Given the description of an element on the screen output the (x, y) to click on. 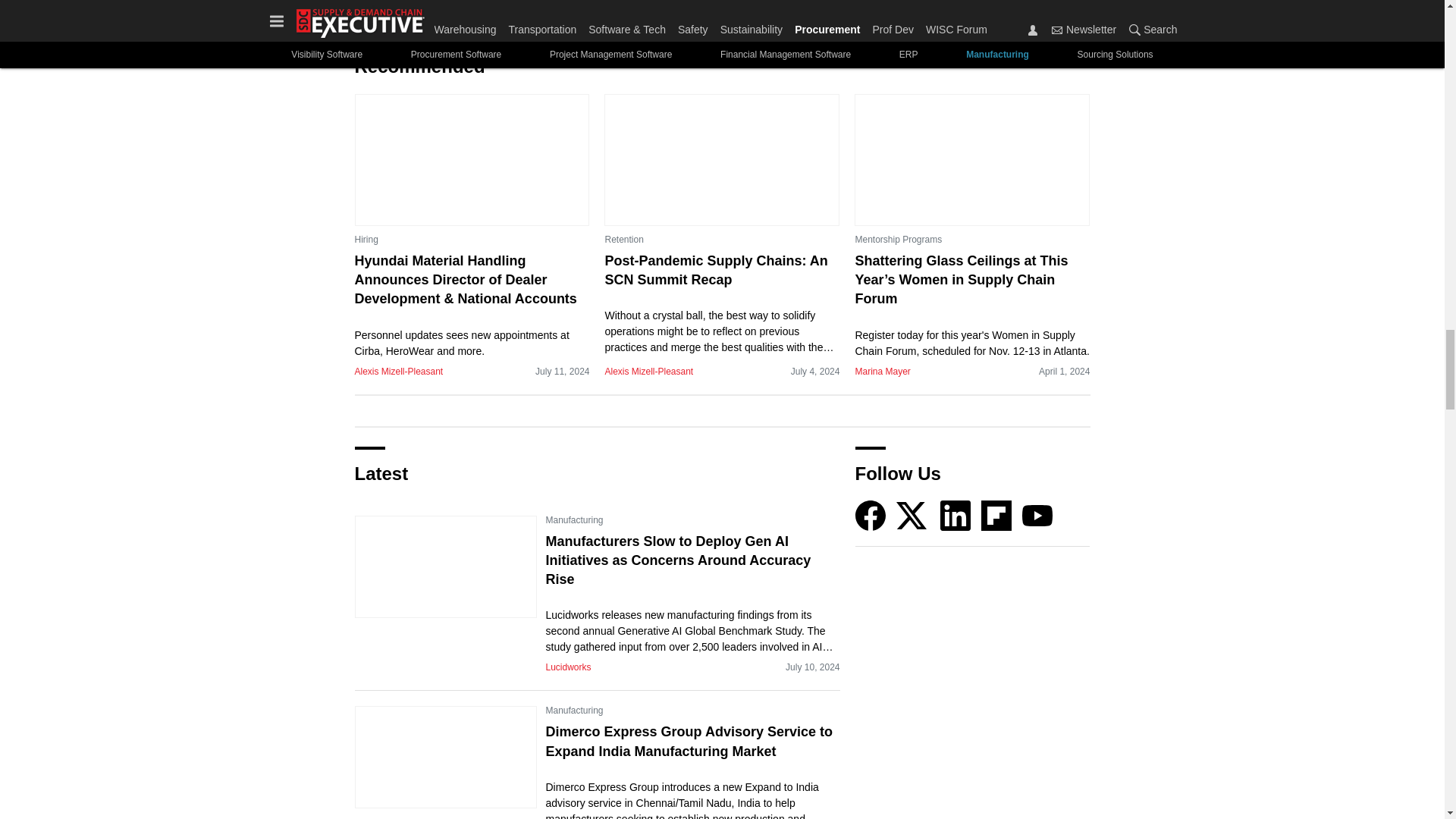
Facebook icon (870, 515)
LinkedIn icon (955, 515)
YouTube icon (1037, 515)
Twitter X icon (911, 515)
Flipboard icon (996, 515)
